Given the description of an element on the screen output the (x, y) to click on. 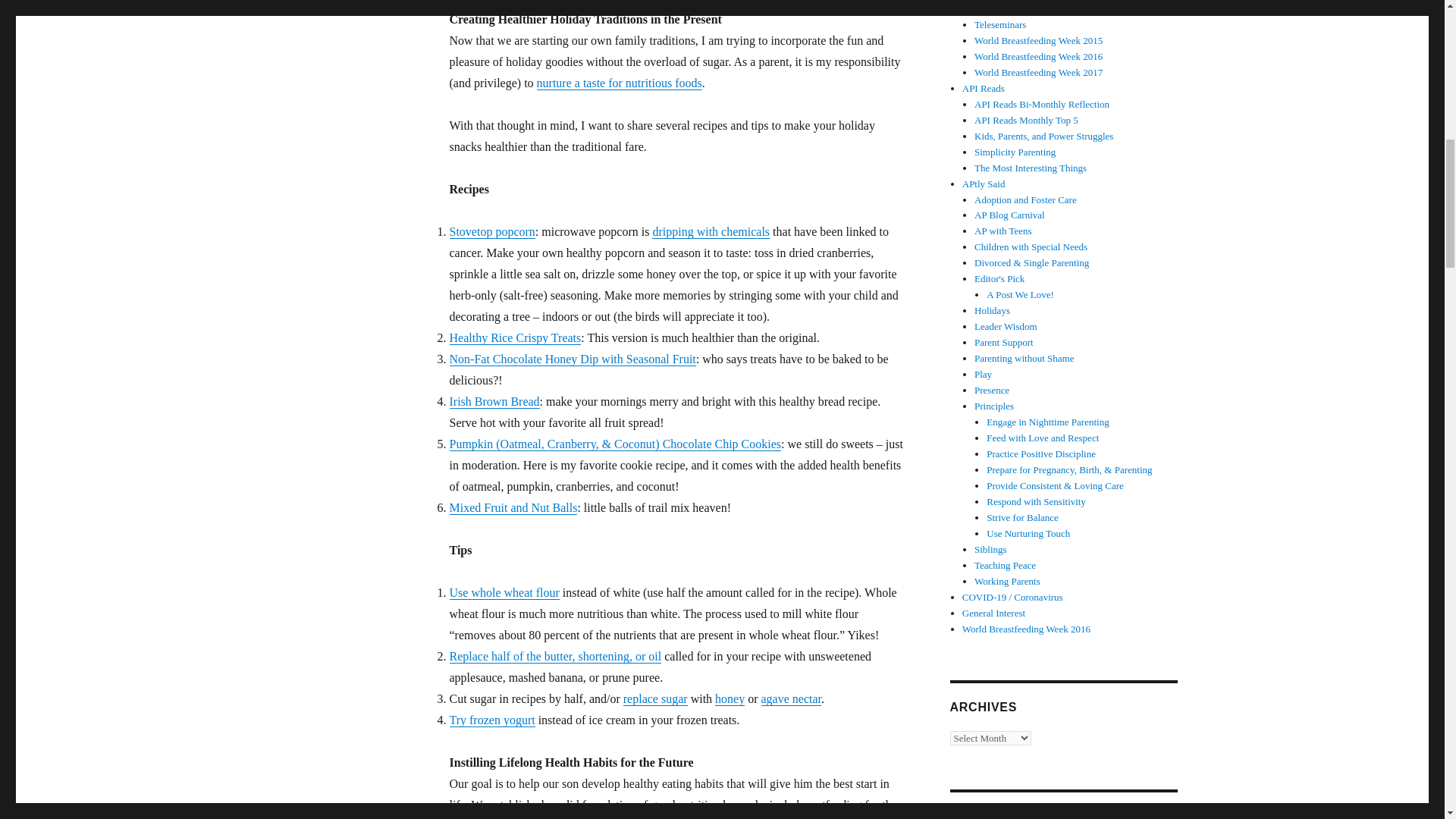
agave nectar (791, 698)
nurture a taste for nutritious foods (619, 82)
Healthy Rice Crispy Treats (514, 337)
Non-Fat Chocolate Honey Dip with Seasonal Fruit (571, 358)
Mixed Fruit and Nut Balls (512, 507)
Replace half of the butter, shortening, or oil (554, 656)
Try frozen yogurt (491, 719)
Use whole wheat flour (503, 592)
Reading of the book "Kids, Parents, and Power Struggles". (1043, 135)
Stovetop popcorn (491, 231)
honey (729, 698)
Irish Brown Bread (493, 400)
